Given the description of an element on the screen output the (x, y) to click on. 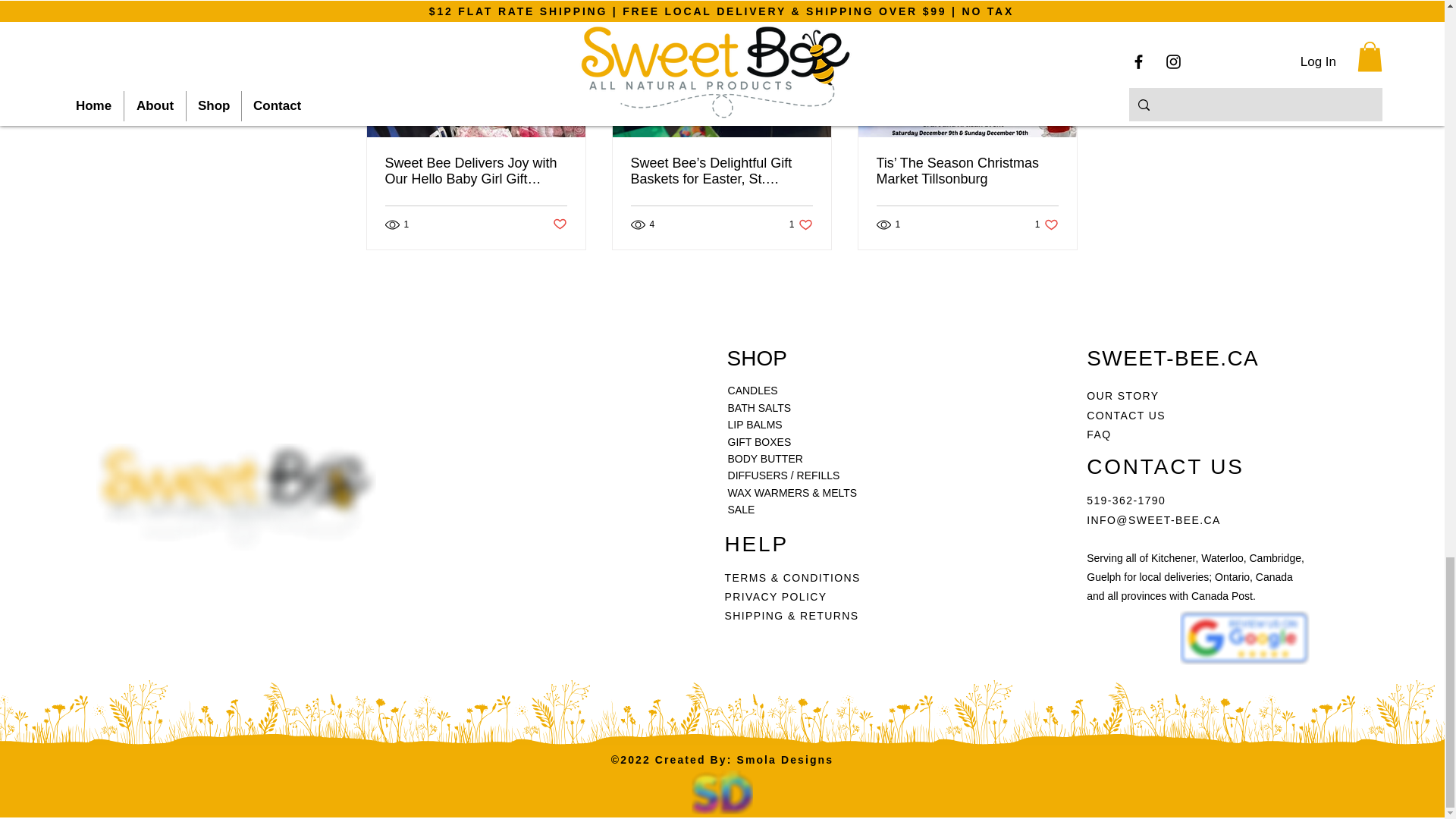
Post not marked as liked (558, 224)
Sweet Bee Delivers Joy with Our Hello Baby Girl Gift Basket (800, 224)
